Given the description of an element on the screen output the (x, y) to click on. 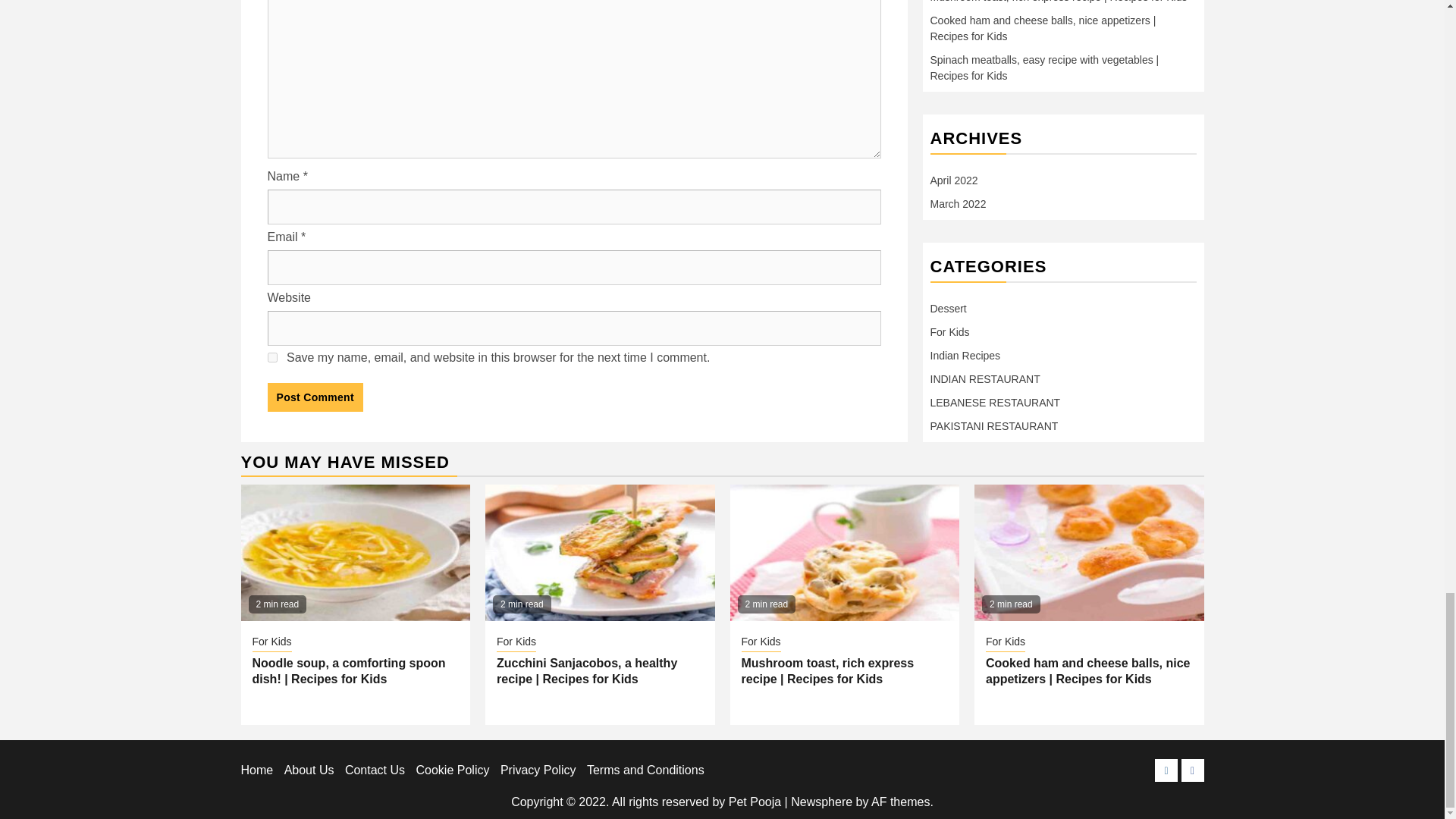
Post Comment (314, 397)
yes (271, 357)
